Given the description of an element on the screen output the (x, y) to click on. 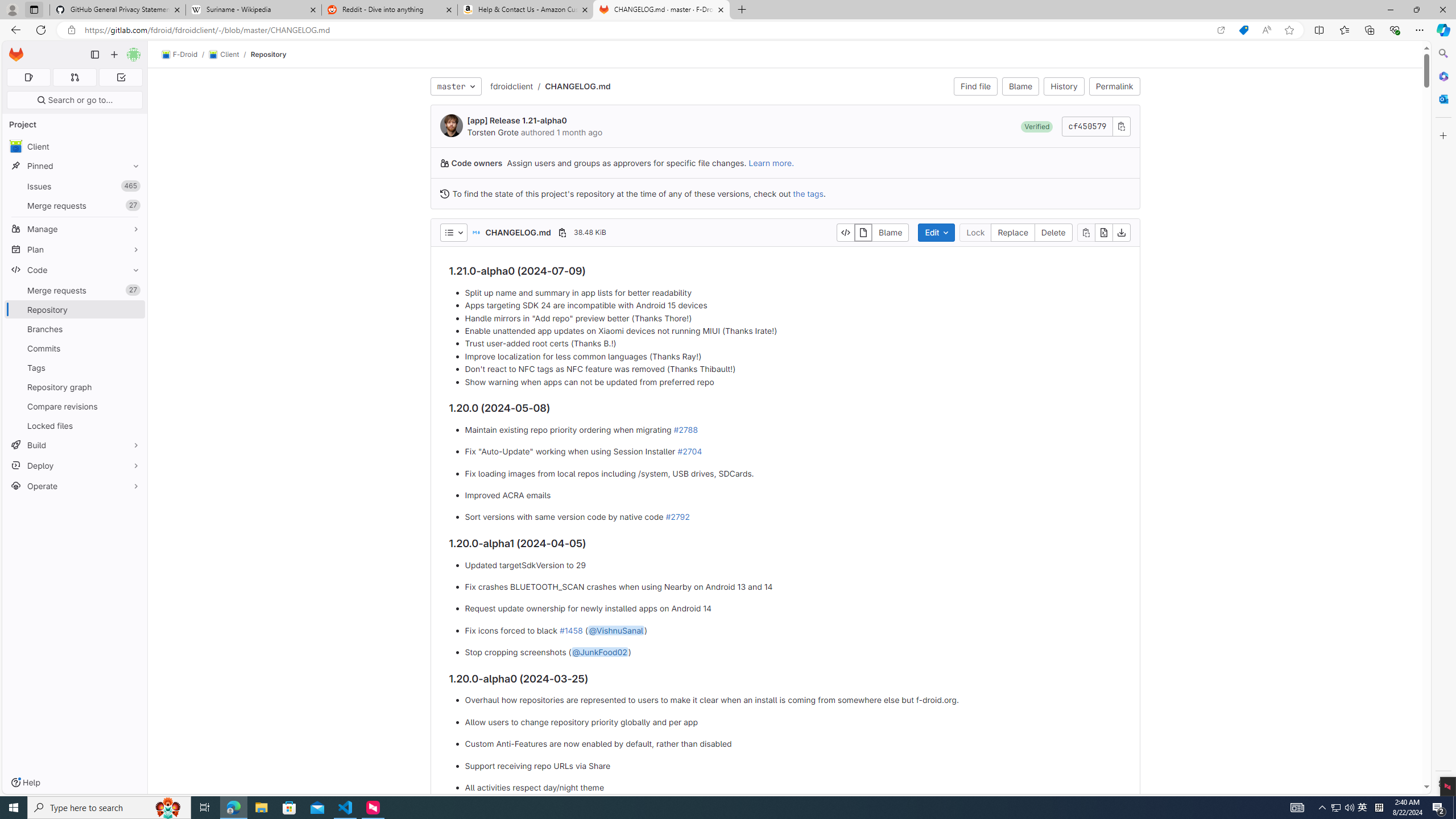
Tags (74, 367)
Open in app (1220, 29)
Torsten Grote (492, 131)
/CHANGELOG.md (571, 85)
Torsten Grote's avatar (451, 125)
[app] Release 1.21-alpha0 (516, 120)
Pin Tags (132, 367)
Learn more. (770, 162)
Commits (74, 348)
Plan (74, 248)
Reddit - Dive into anything (390, 9)
